Given the description of an element on the screen output the (x, y) to click on. 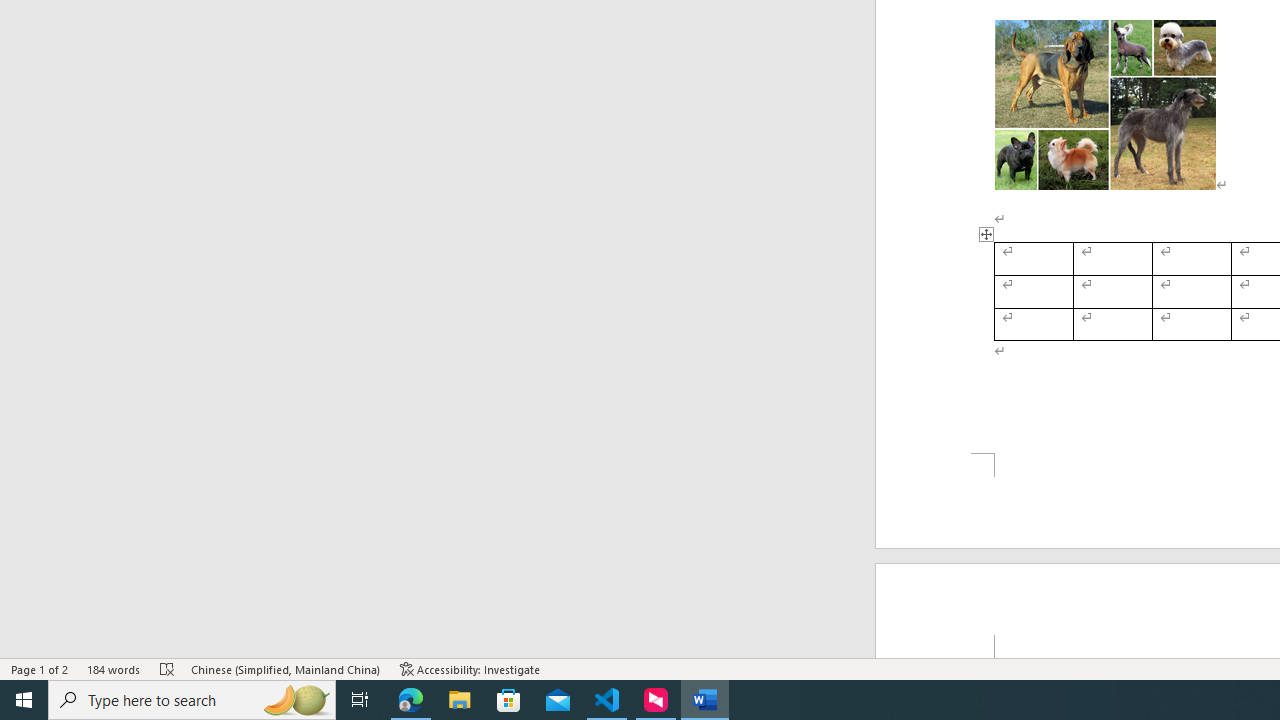
Morphological variation in six dogs (1105, 105)
Accessibility Checker Accessibility: Investigate (470, 668)
Word Count 184 words (113, 668)
Language Chinese (Simplified, Mainland China) (286, 668)
Page Number Page 1 of 2 (39, 668)
Spelling and Grammar Check Errors (168, 668)
